Given the description of an element on the screen output the (x, y) to click on. 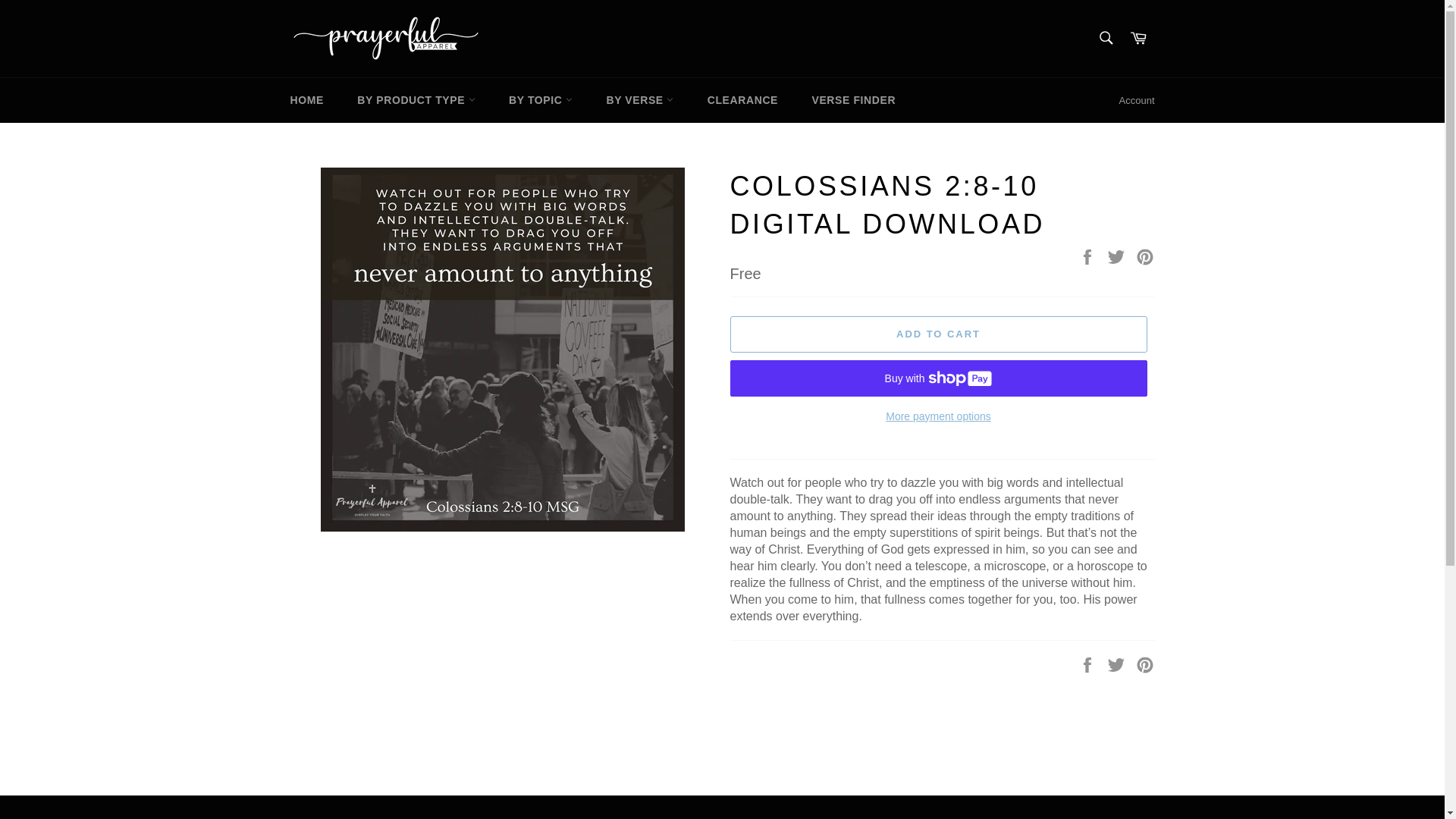
Pin on Pinterest (1144, 255)
Share on Facebook (1088, 255)
Tweet on Twitter (1117, 663)
Share on Facebook (1088, 663)
Tweet on Twitter (1117, 255)
Pin on Pinterest (1144, 663)
